Given the description of an element on the screen output the (x, y) to click on. 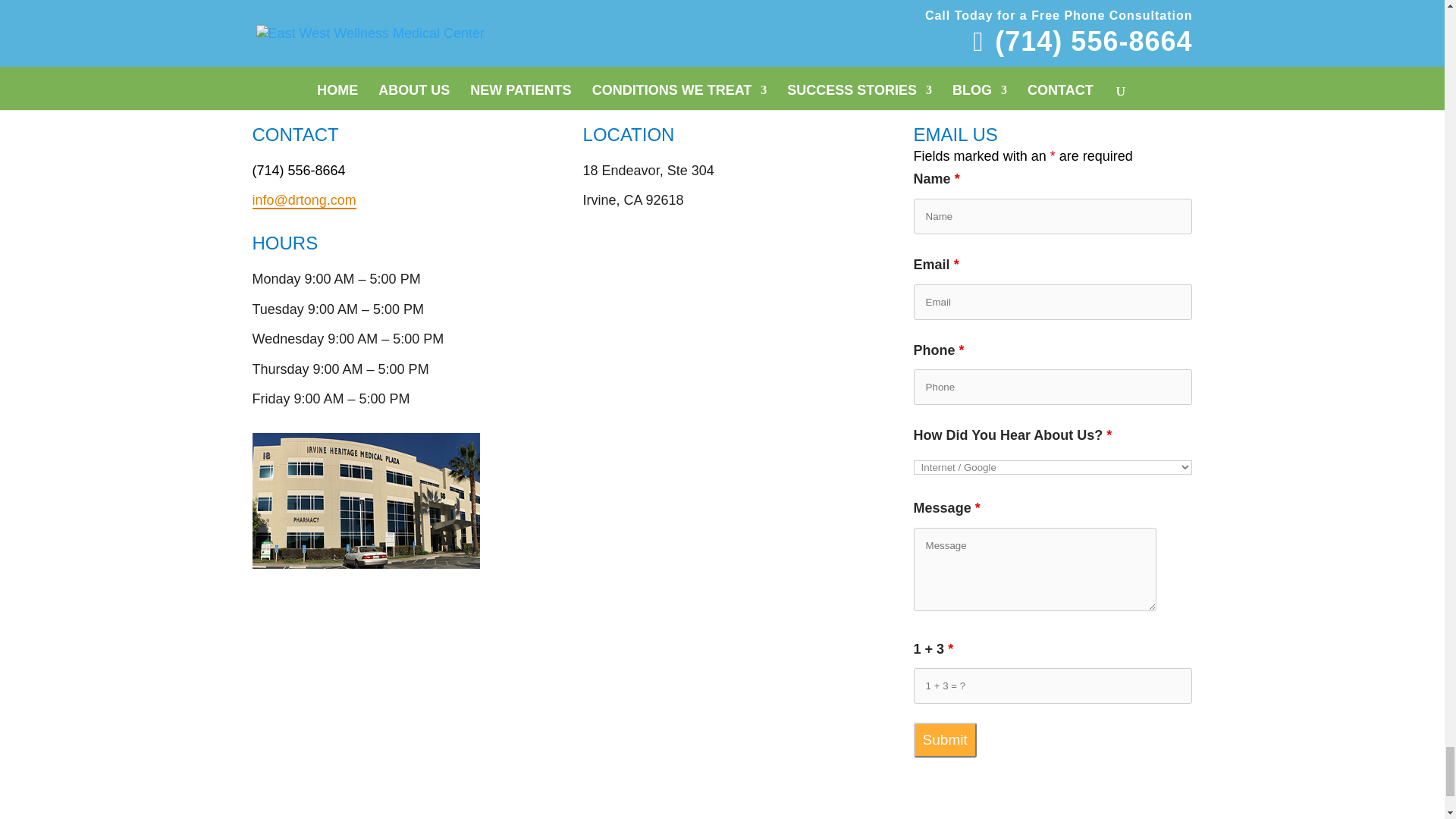
Submit (945, 739)
